Given the description of an element on the screen output the (x, y) to click on. 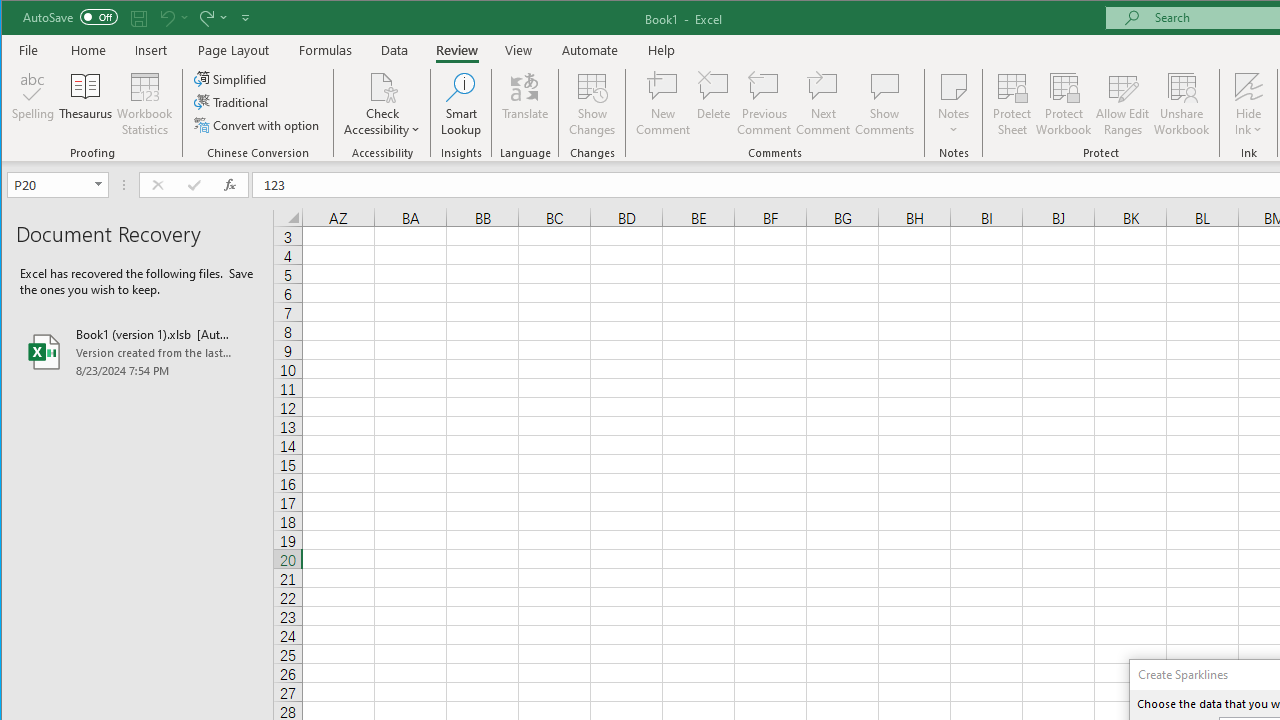
Notes (954, 104)
Protect Sheet... (1012, 104)
Allow Edit Ranges (1123, 104)
Spelling... (33, 104)
Show Changes (592, 104)
Smart Lookup (461, 104)
Thesaurus... (86, 104)
